Given the description of an element on the screen output the (x, y) to click on. 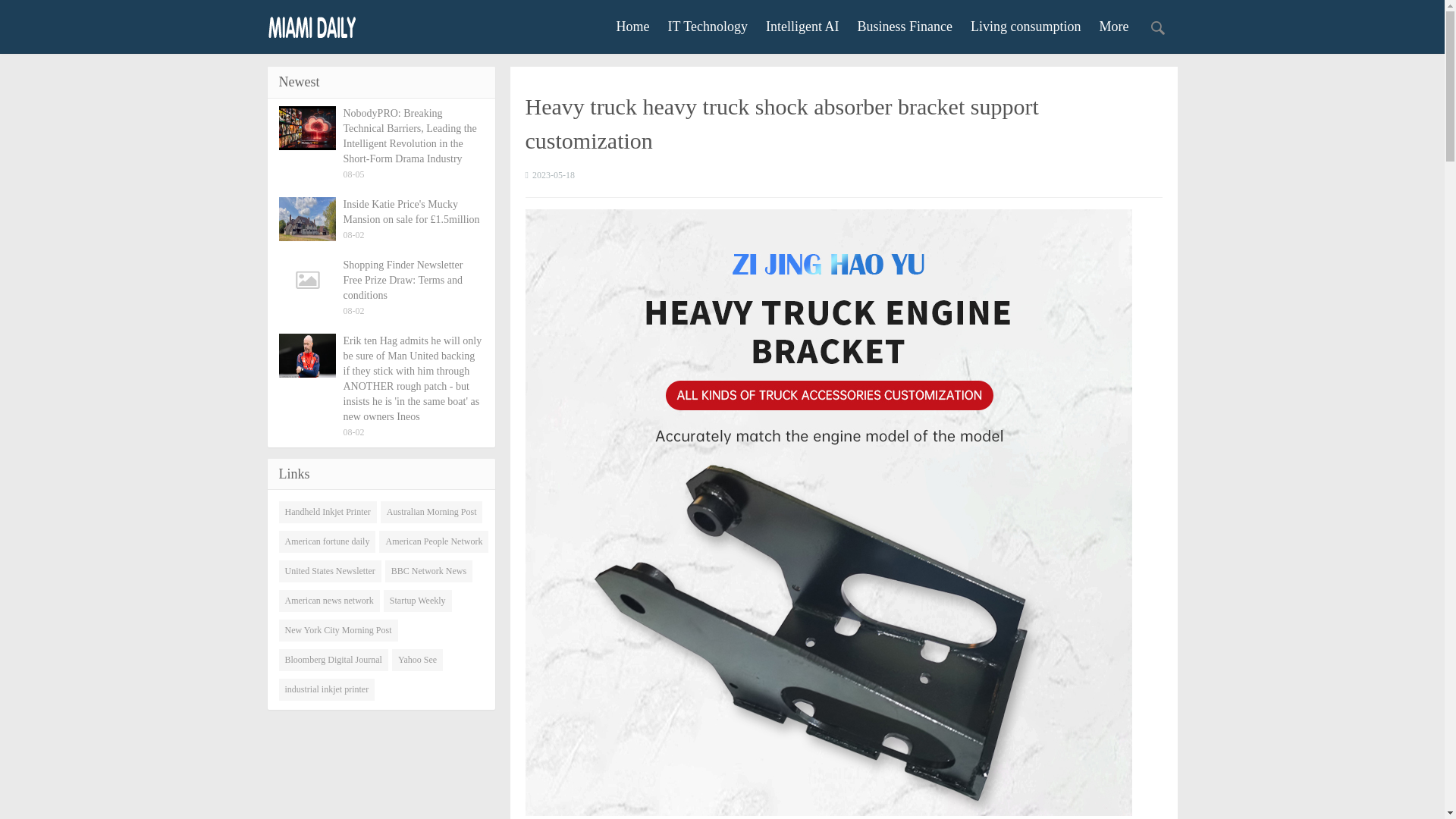
Handheld Inkjet Printer (328, 512)
Intelligent AI (801, 26)
Living consumption (1026, 26)
American news network (329, 600)
New York City Morning Post (338, 630)
IT Technology (707, 26)
Startup Weekly (417, 600)
